Given the description of an element on the screen output the (x, y) to click on. 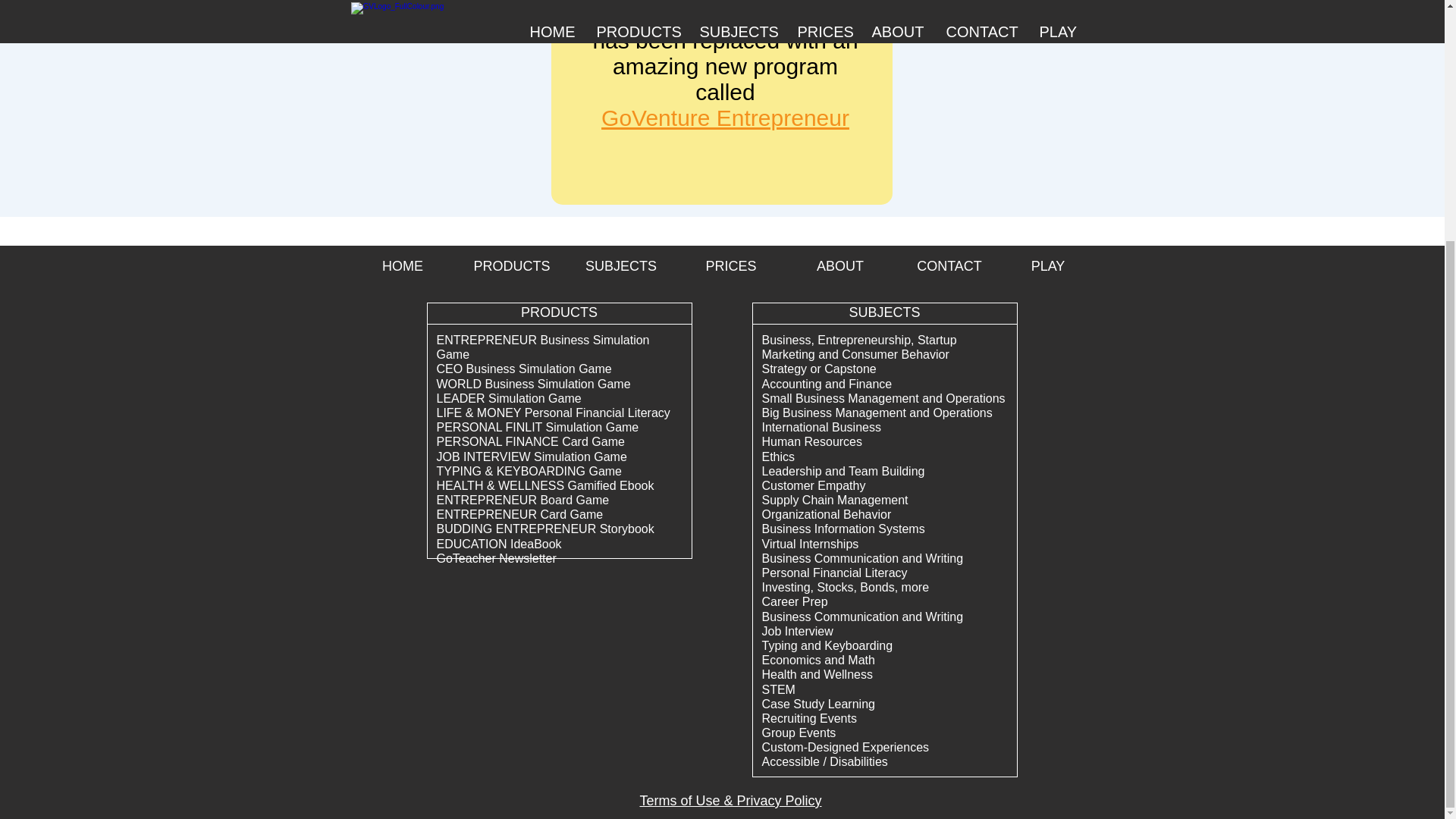
GoVenture Entrepreneur (724, 117)
CONTACT (949, 265)
PRICES (729, 265)
PRODUCTS (558, 312)
SUBJECTS (884, 312)
HOME (402, 265)
PLAY (1047, 265)
PRODUCTS (511, 265)
SUBJECTS (620, 265)
ABOUT (839, 265)
